Given the description of an element on the screen output the (x, y) to click on. 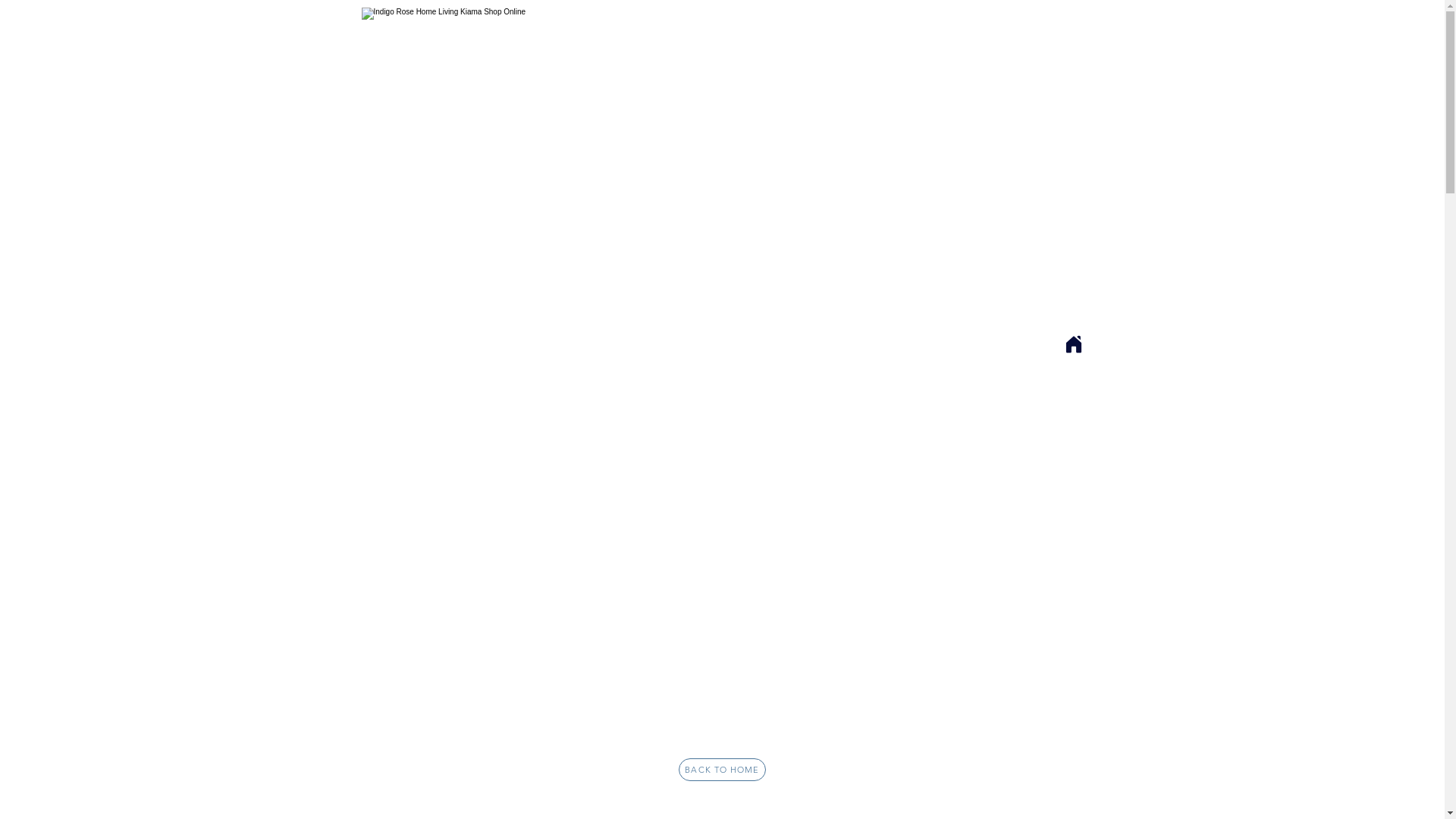
BACK TO HOME Element type: text (721, 769)
